Given the description of an element on the screen output the (x, y) to click on. 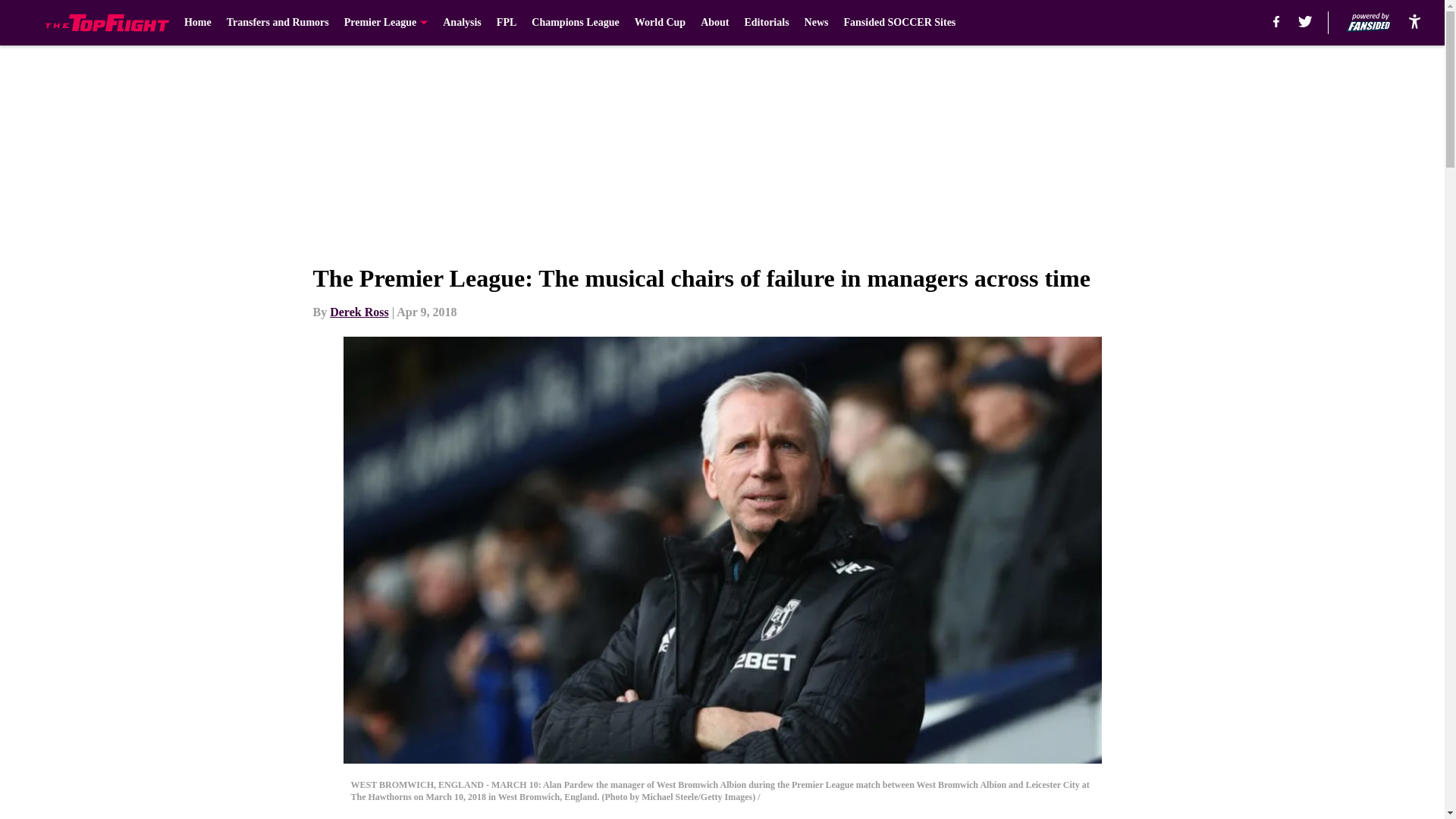
Fansided SOCCER Sites (899, 22)
World Cup (659, 22)
Editorials (766, 22)
Champions League (575, 22)
News (816, 22)
Home (197, 22)
FPL (506, 22)
Transfers and Rumors (278, 22)
About (714, 22)
Analysis (461, 22)
